Given the description of an element on the screen output the (x, y) to click on. 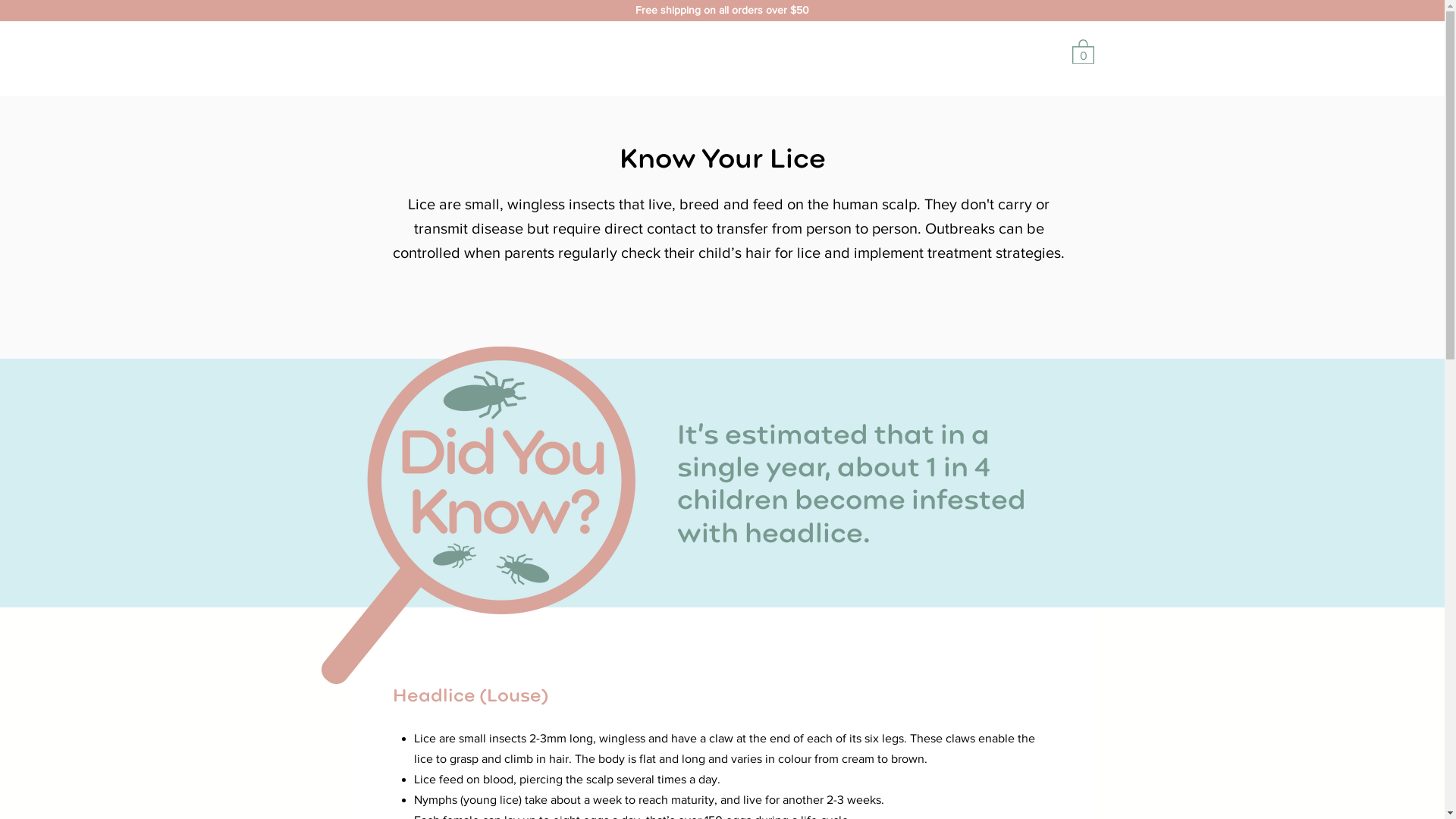
0 Element type: text (1083, 50)
